Given the description of an element on the screen output the (x, y) to click on. 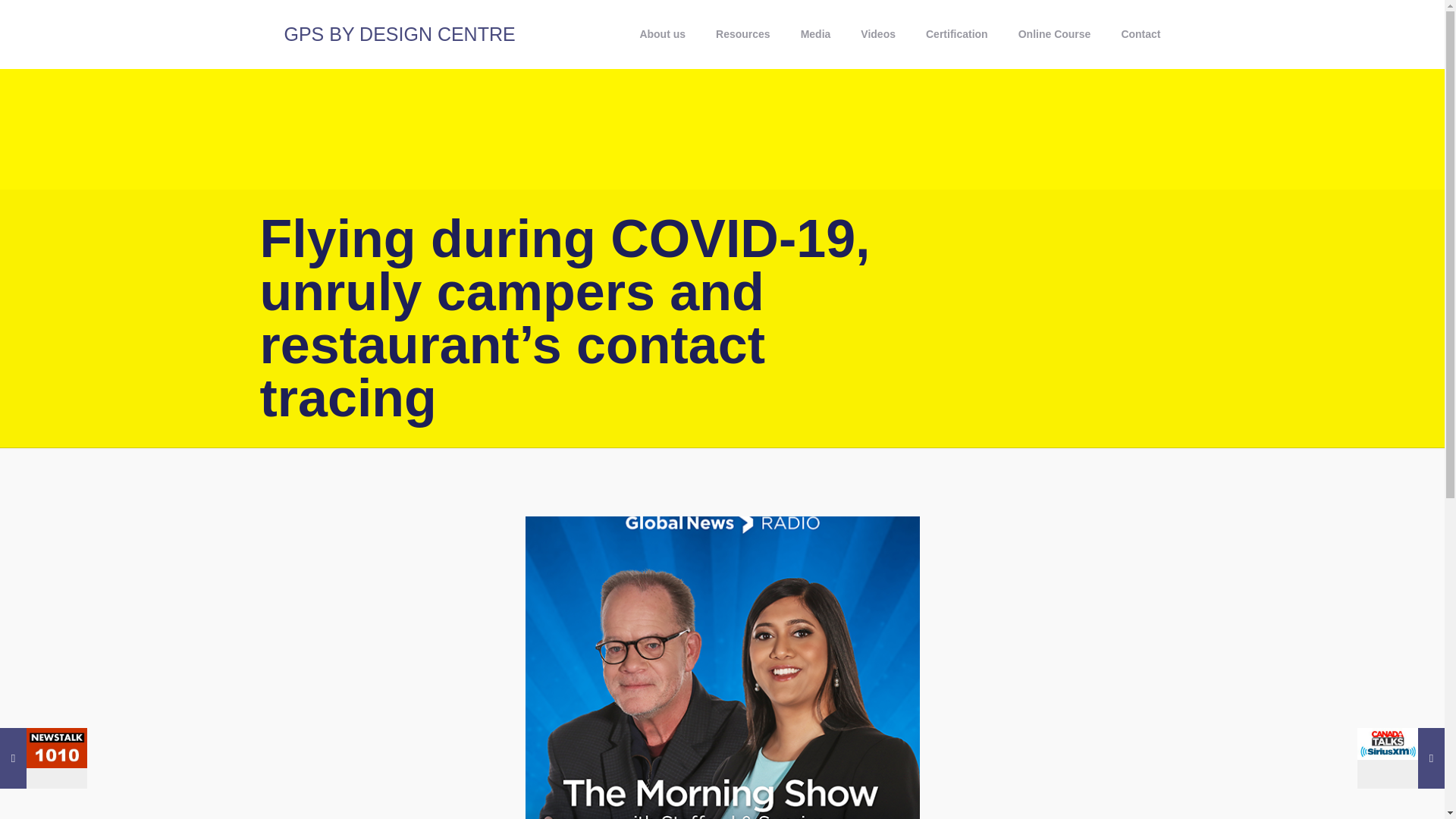
Media (815, 33)
Resources (743, 33)
GPS BY DESIGN CENTRE (399, 33)
Contact (1139, 33)
Certification (957, 33)
Videos (878, 33)
Online Course (1054, 33)
About us (662, 33)
Global Privacy and Security by Design Centre (399, 33)
